Given the description of an element on the screen output the (x, y) to click on. 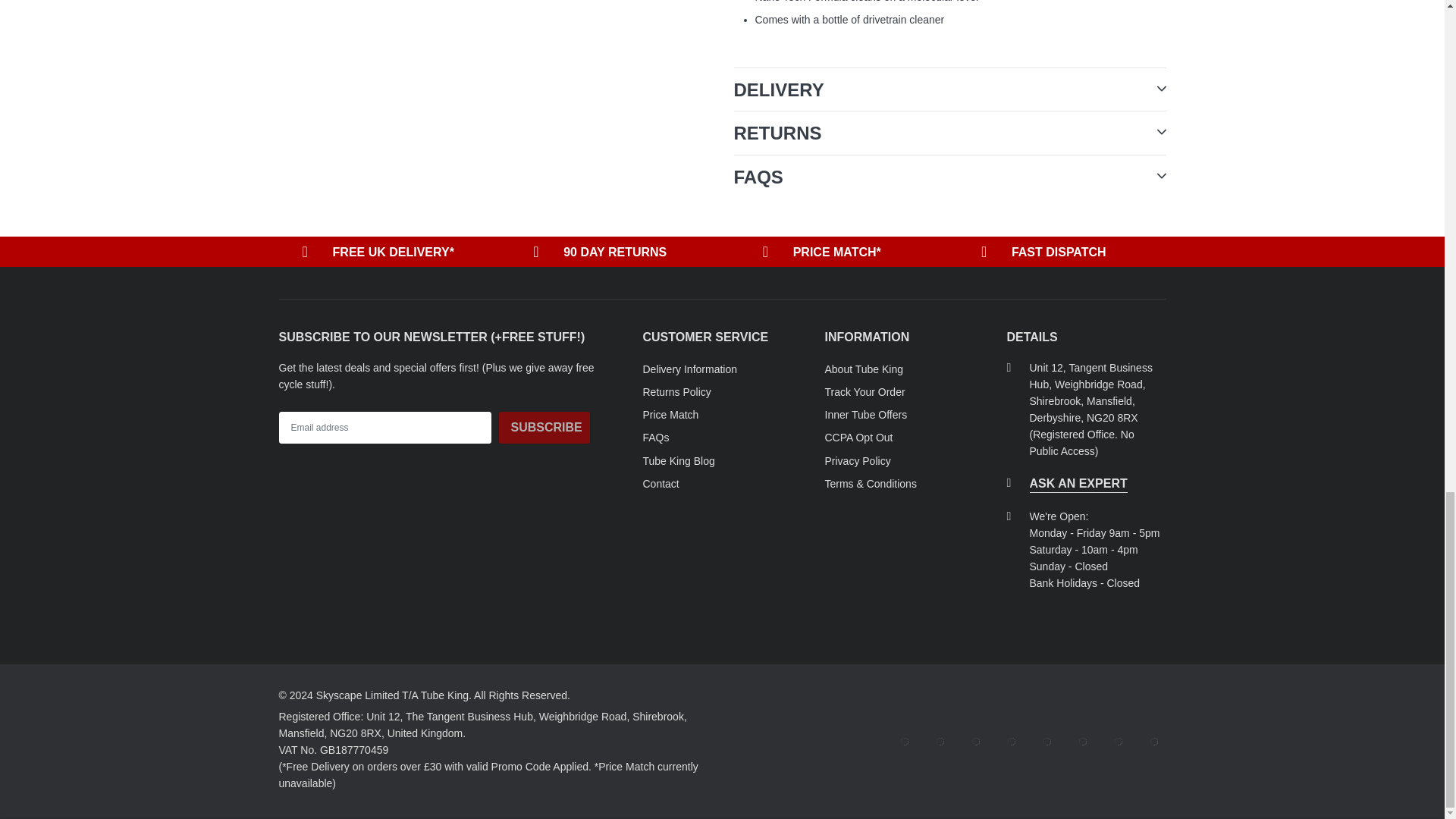
Subscribe (544, 427)
